Given the description of an element on the screen output the (x, y) to click on. 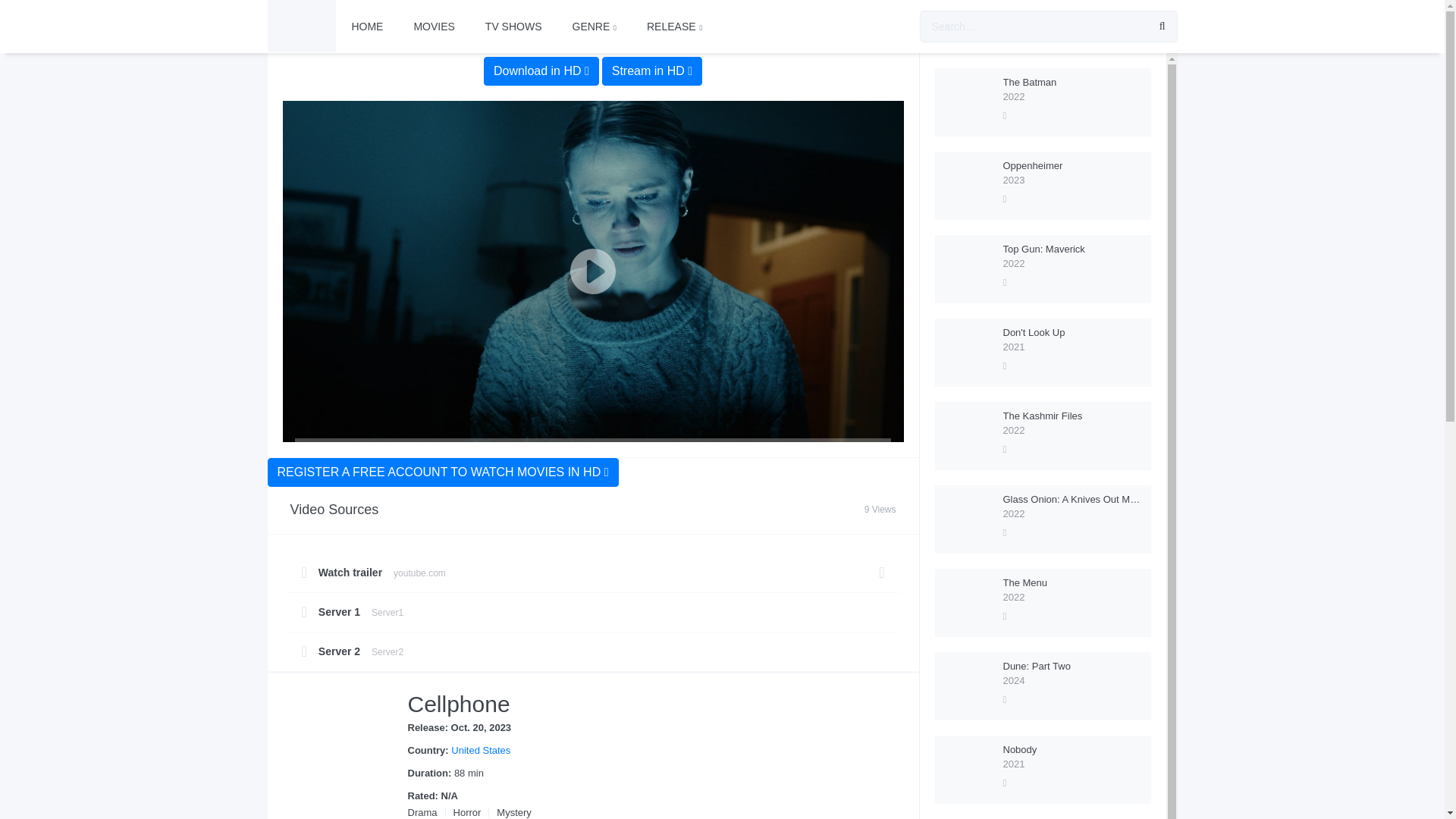
RELEASE (674, 26)
HOME (366, 26)
MOVIES (432, 26)
TV SHOWS (513, 26)
GENRE (592, 602)
